Given the description of an element on the screen output the (x, y) to click on. 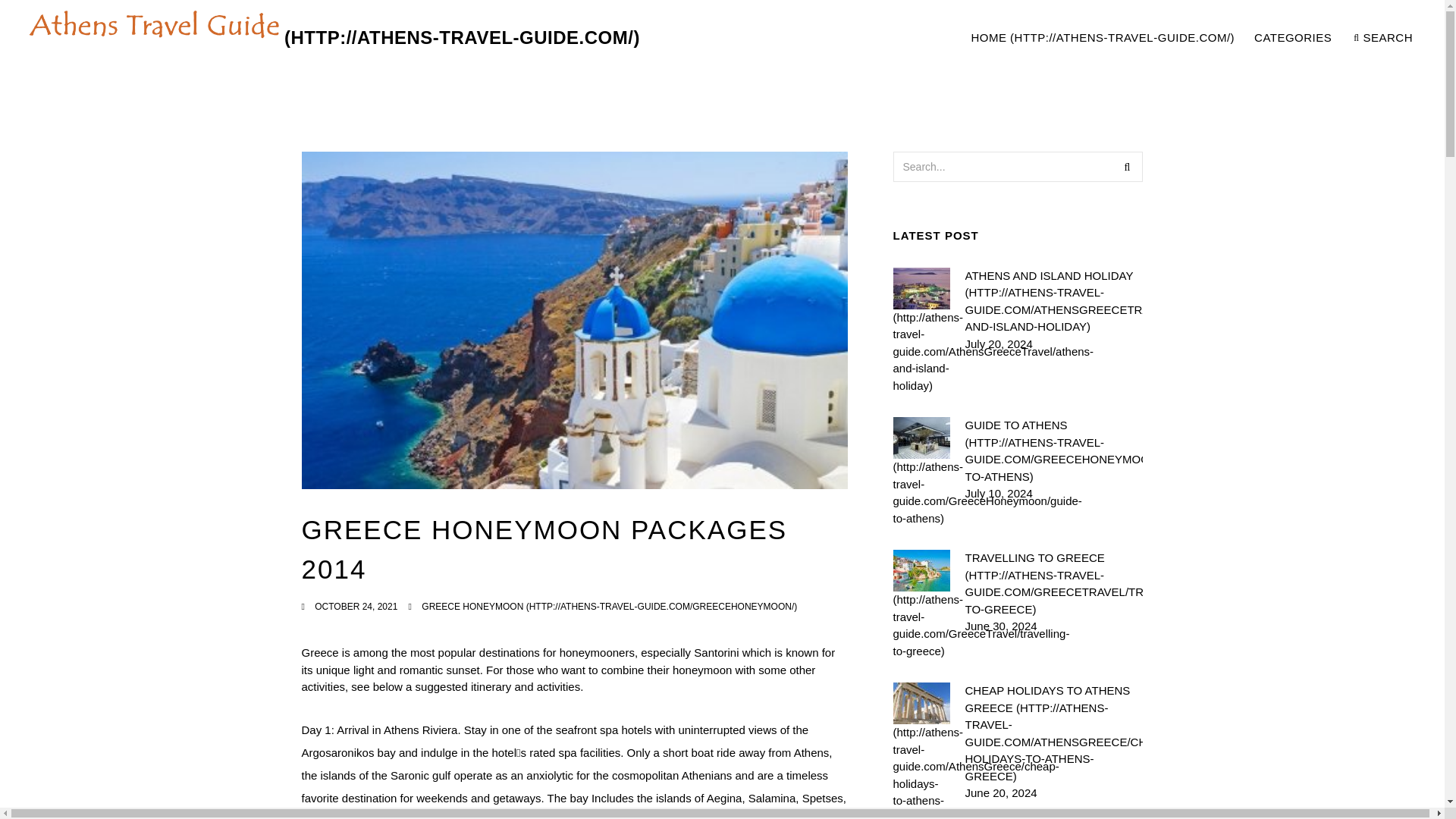
Search (1126, 166)
ATHENS AND ISLAND HOLIDAY (1052, 300)
Athens Travel Guide (331, 38)
GUIDE TO ATHENS (1052, 450)
HOME (1101, 38)
SEARCH (1382, 38)
CATEGORIES (1293, 38)
TRAVELLING TO GREECE (1190, 38)
CHEAP HOLIDAYS TO ATHENS GREECE (1052, 583)
GREECE HONEYMOON (1052, 733)
